Given the description of an element on the screen output the (x, y) to click on. 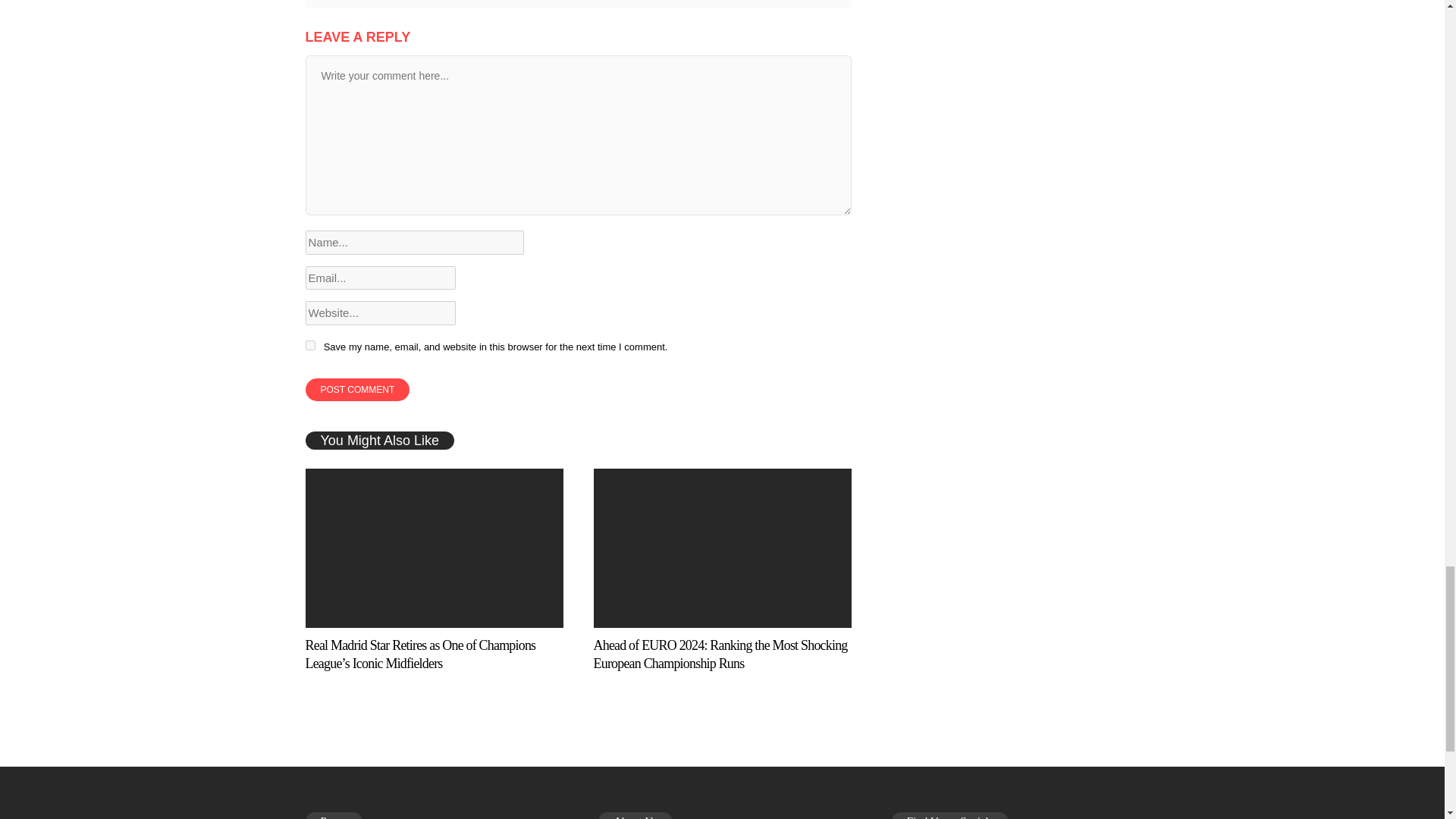
Post Comment (356, 389)
yes (309, 345)
